Given the description of an element on the screen output the (x, y) to click on. 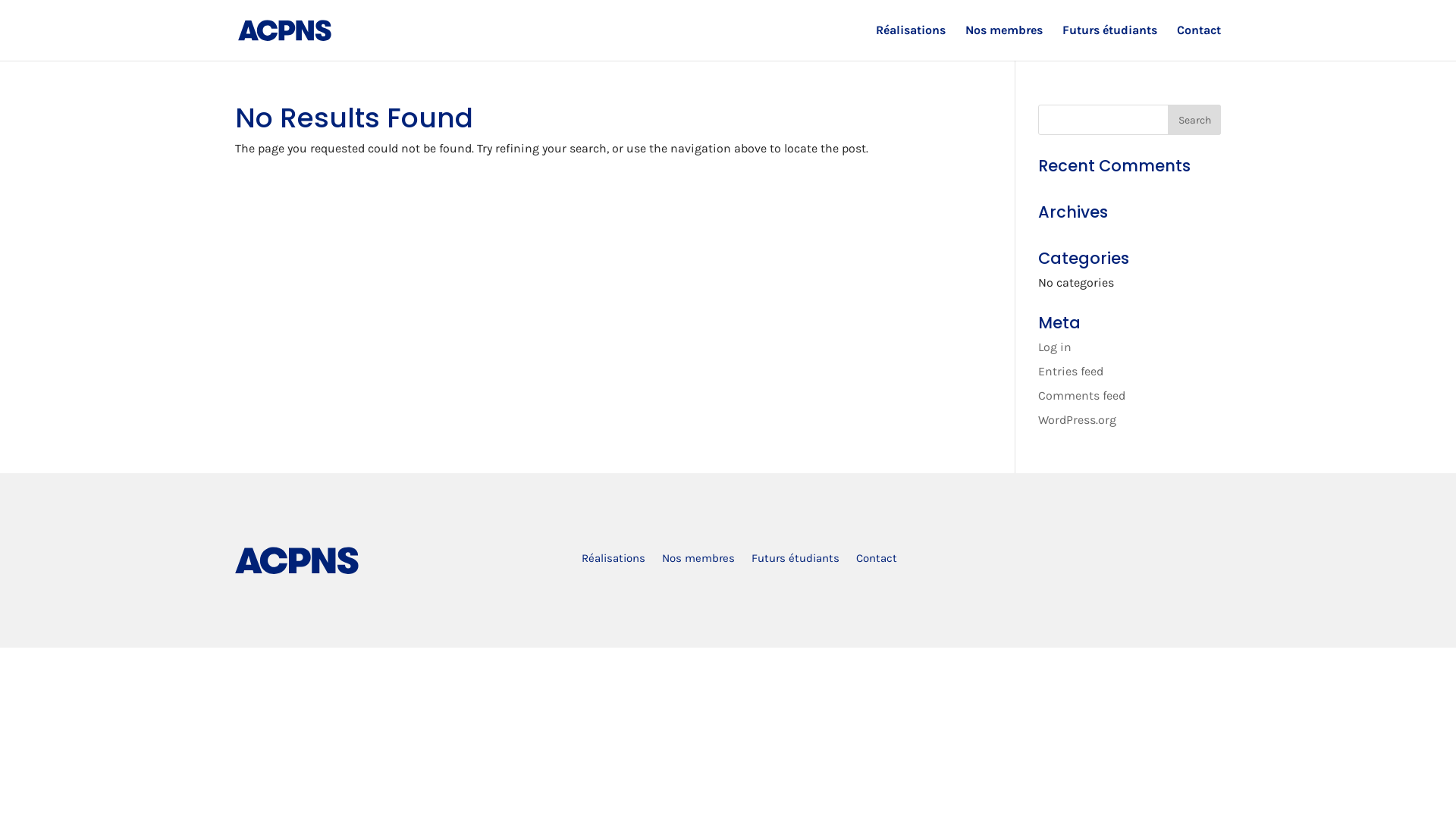
Log in Element type: text (1054, 346)
Entries feed Element type: text (1070, 371)
logo Element type: hover (296, 560)
Search Element type: text (1193, 119)
Comments feed Element type: text (1081, 395)
Nos membres Element type: text (698, 560)
Contact Element type: text (876, 560)
WordPress.org Element type: text (1077, 419)
Nos membres Element type: text (1003, 42)
Contact Element type: text (1198, 42)
